Given the description of an element on the screen output the (x, y) to click on. 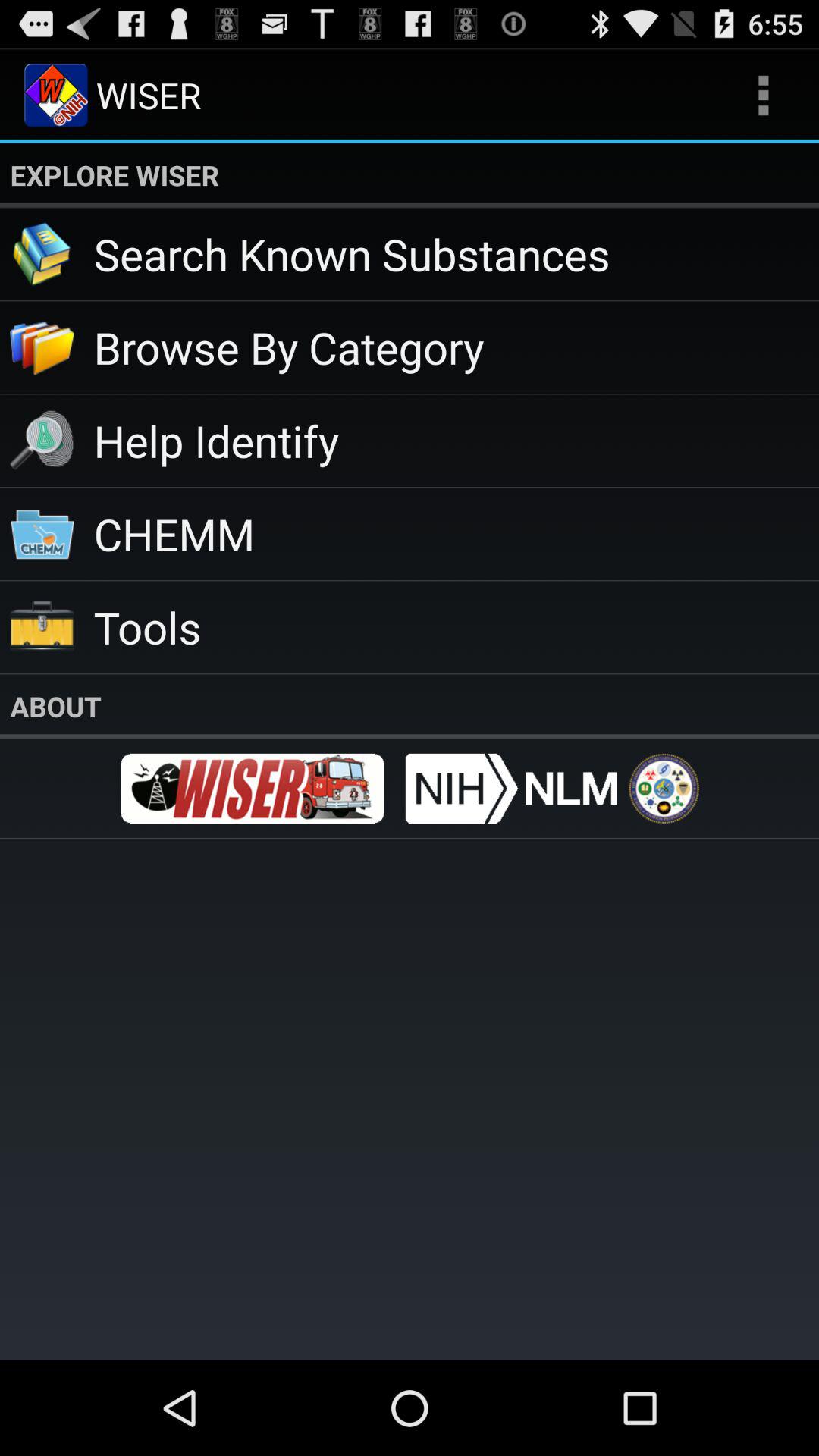
choose chemm (456, 533)
